Given the description of an element on the screen output the (x, y) to click on. 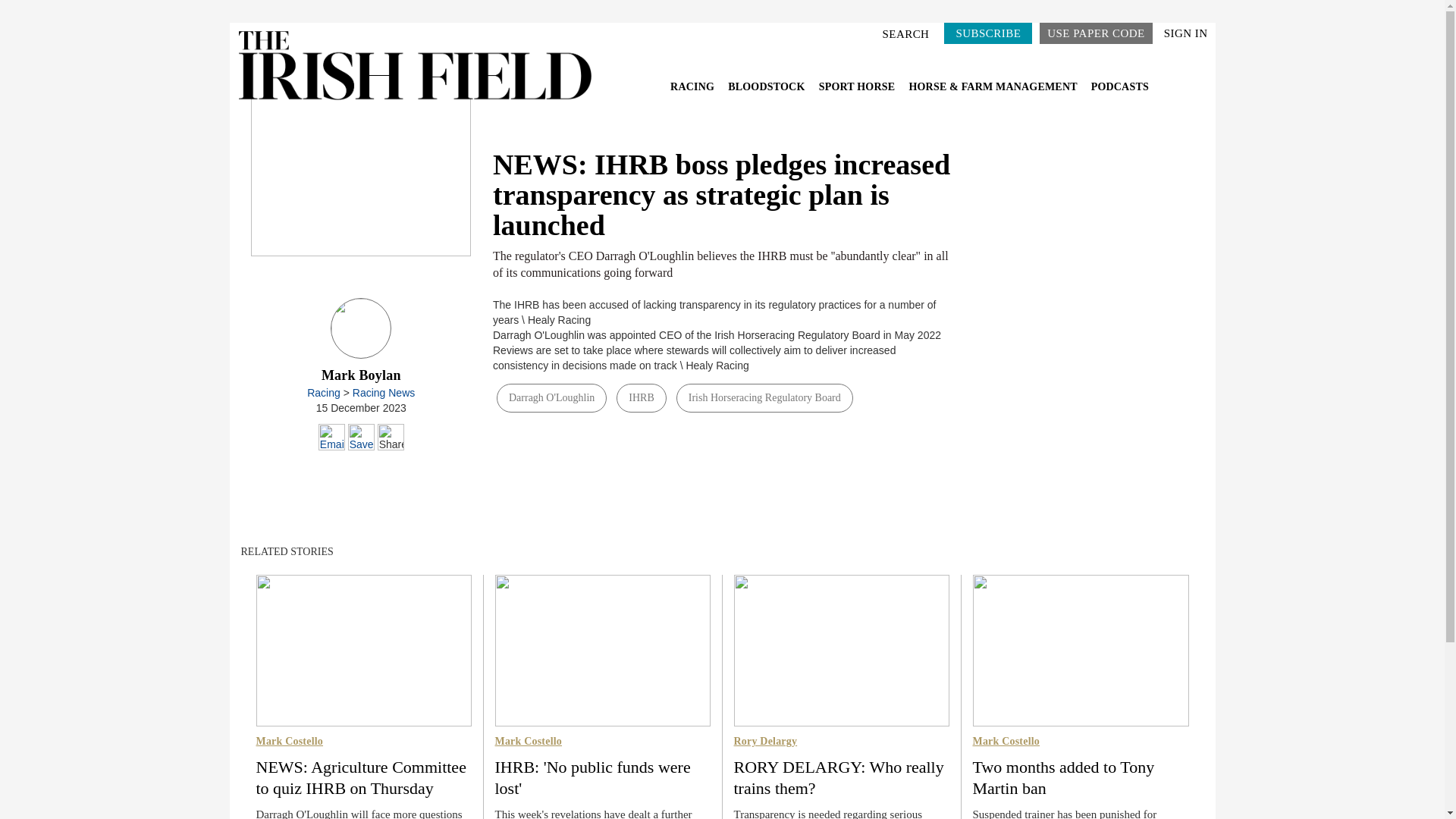
BLOODSTOCK (768, 86)
RACING (693, 86)
SEARCH (909, 33)
Share this article (390, 437)
SIGN IN (1185, 33)
PODCASTS (1119, 86)
Save this article (360, 437)
USE PAPER CODE (1095, 33)
SUBSCRIBE (987, 33)
Email the writer (331, 437)
